Given the description of an element on the screen output the (x, y) to click on. 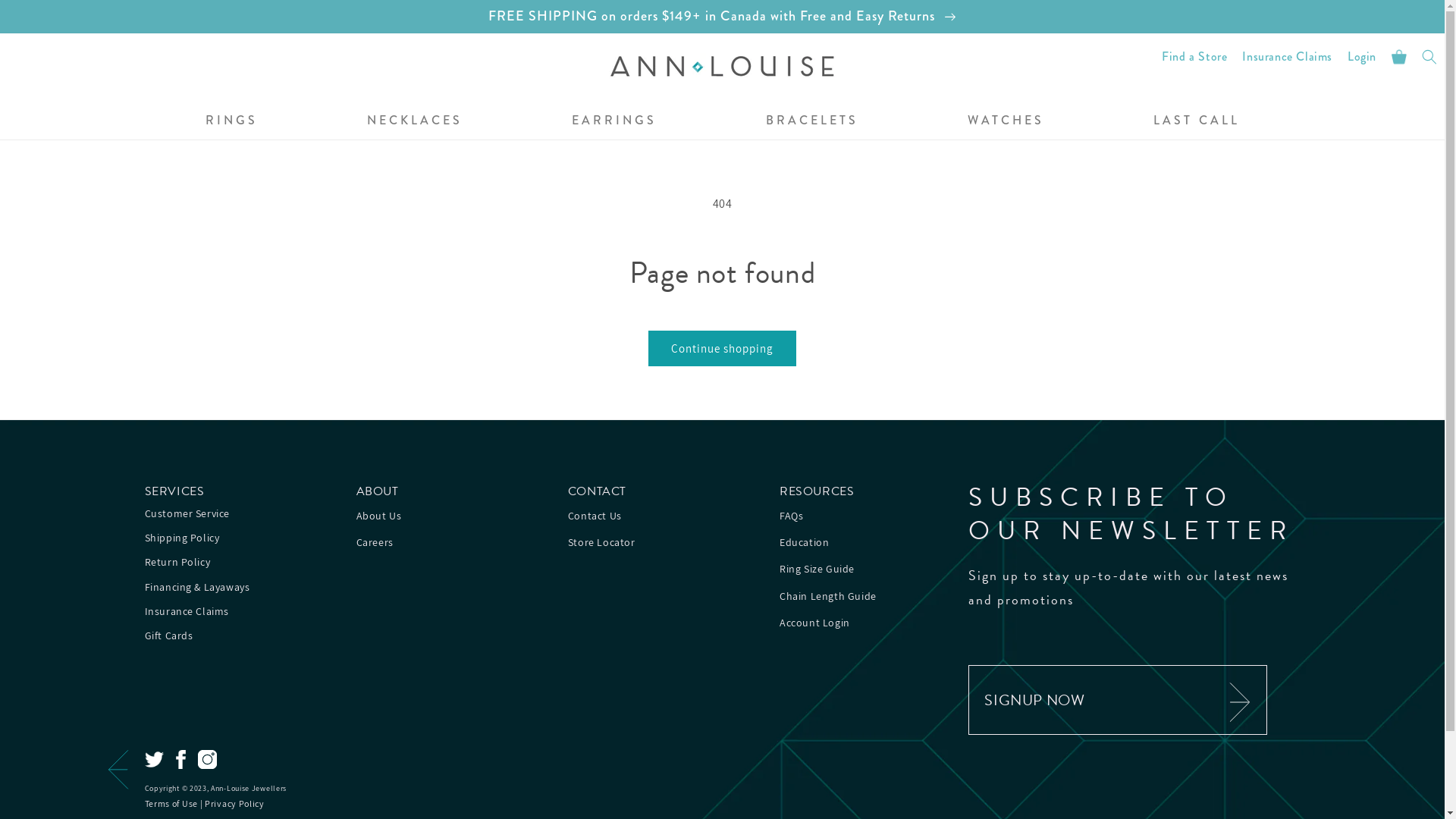
Financing & Layaways Element type: text (196, 588)
Insurance Claims Element type: text (1287, 56)
Privacy Policy Element type: text (234, 803)
Cart Element type: text (1398, 56)
Account Login Element type: text (814, 622)
Education Element type: text (803, 542)
EARRINGS Element type: text (613, 120)
Customer Service Element type: text (186, 515)
Contact Us Element type: text (594, 515)
About Us Element type: text (378, 515)
Insurance Claims Element type: text (186, 613)
Shipping Policy Element type: text (181, 539)
Gift Cards Element type: text (168, 637)
Terms of Use Element type: text (170, 803)
Continue shopping Element type: text (722, 348)
RINGS Element type: text (230, 120)
Find a Store Element type: text (1193, 56)
FAQs Element type: text (791, 515)
Chain Length Guide Element type: text (827, 596)
Login
Log in Element type: text (1361, 56)
LAST CALL Element type: text (1195, 121)
Store Locator Element type: text (601, 542)
NECKLACES Element type: text (414, 120)
Careers Element type: text (374, 542)
Ring Size Guide Element type: text (816, 568)
Return Policy Element type: text (177, 563)
BRACELETS Element type: text (811, 120)
WATCHES Element type: text (1005, 120)
